Given the description of an element on the screen output the (x, y) to click on. 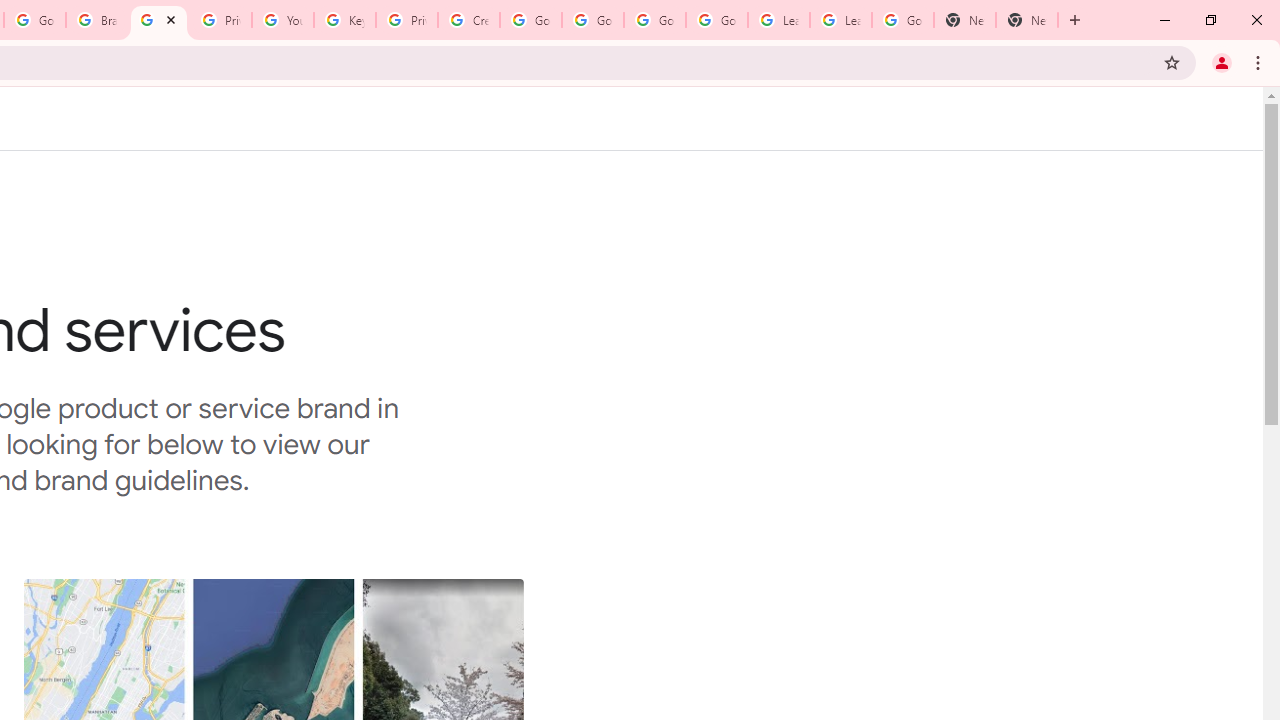
New Tab (964, 20)
YouTube (282, 20)
Google Account Help (530, 20)
Brand Resource Center (96, 20)
Google Account (902, 20)
Brand Resource Center | Products and Services (158, 20)
